Given the description of an element on the screen output the (x, y) to click on. 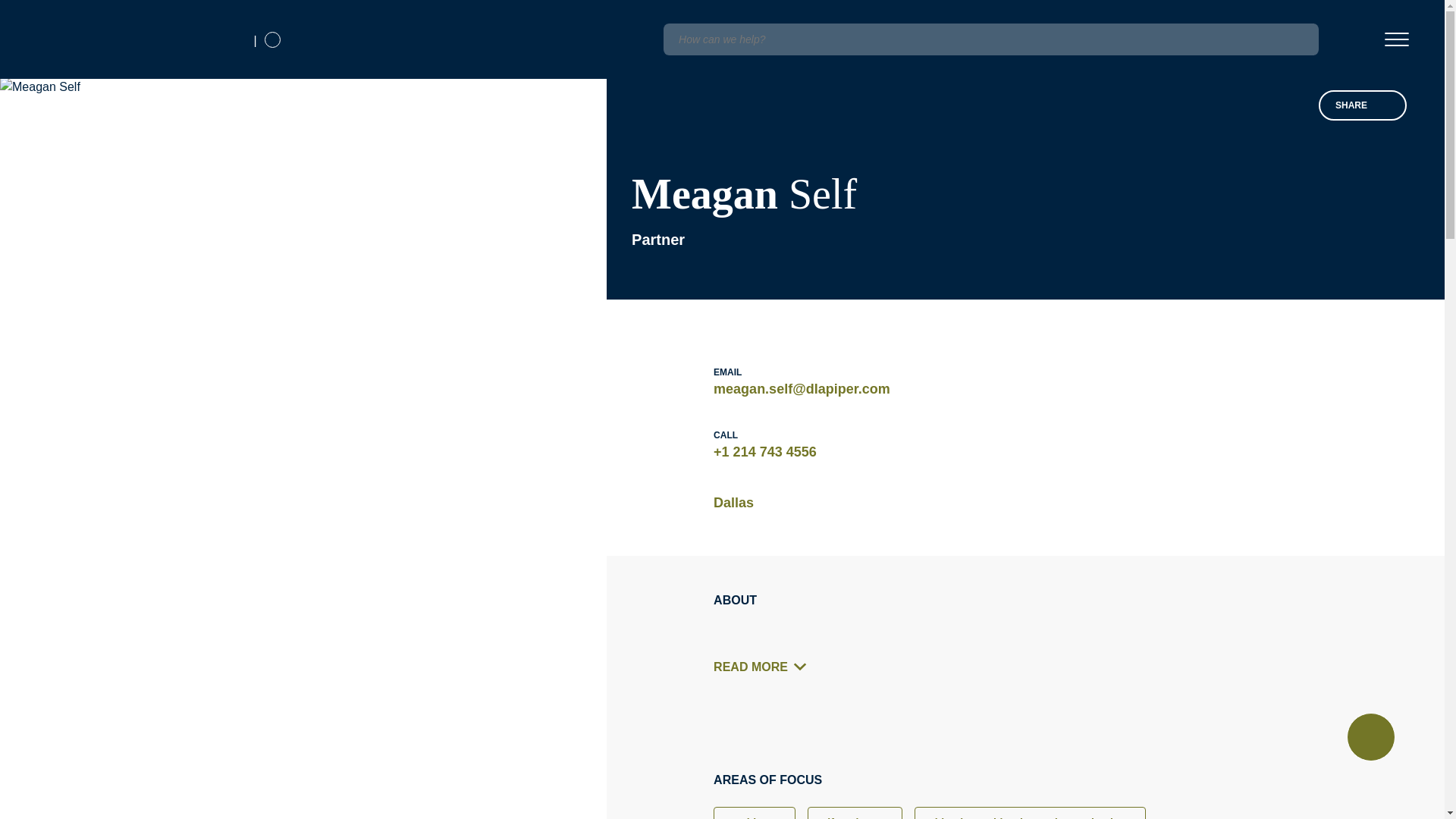
Life Sciences (855, 812)
Insert a query. Press enter to send (990, 39)
Dallas (733, 502)
Litigation, Arbitration and Investigations (1029, 812)
Healthcare (753, 812)
READ MORE (764, 667)
